Given the description of an element on the screen output the (x, y) to click on. 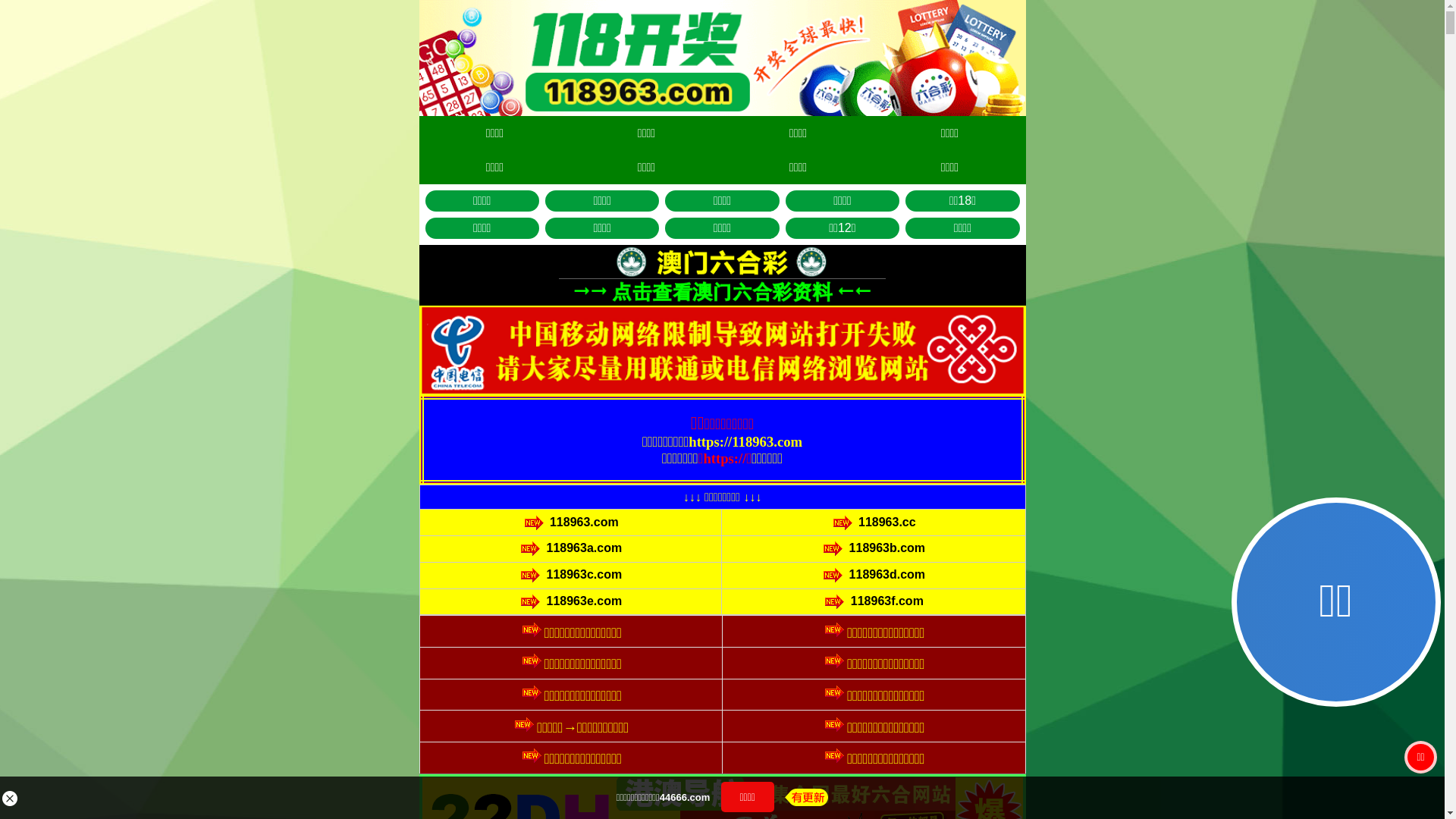
1877.bet Element type: text (786, 515)
8898.cc Element type: text (657, 445)
8i.cc Element type: text (657, 480)
2050.biz Element type: text (786, 480)
U7.cc Element type: text (657, 515)
918.cc Element type: text (786, 550)
9797.cc Element type: text (786, 445)
8228.cc Element type: text (657, 550)
